Given the description of an element on the screen output the (x, y) to click on. 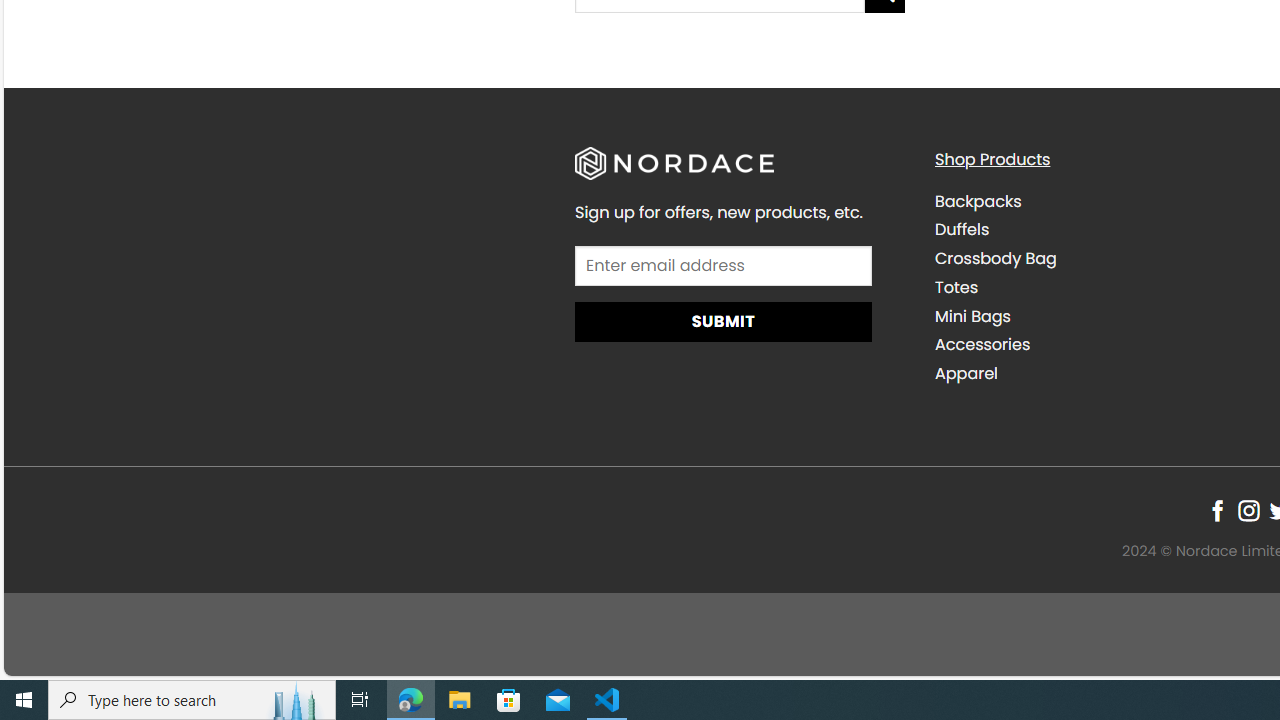
Backpacks (1099, 201)
Mini Bags (1099, 316)
AutomationID: input_4_1 (722, 264)
Apparel (966, 373)
